Given the description of an element on the screen output the (x, y) to click on. 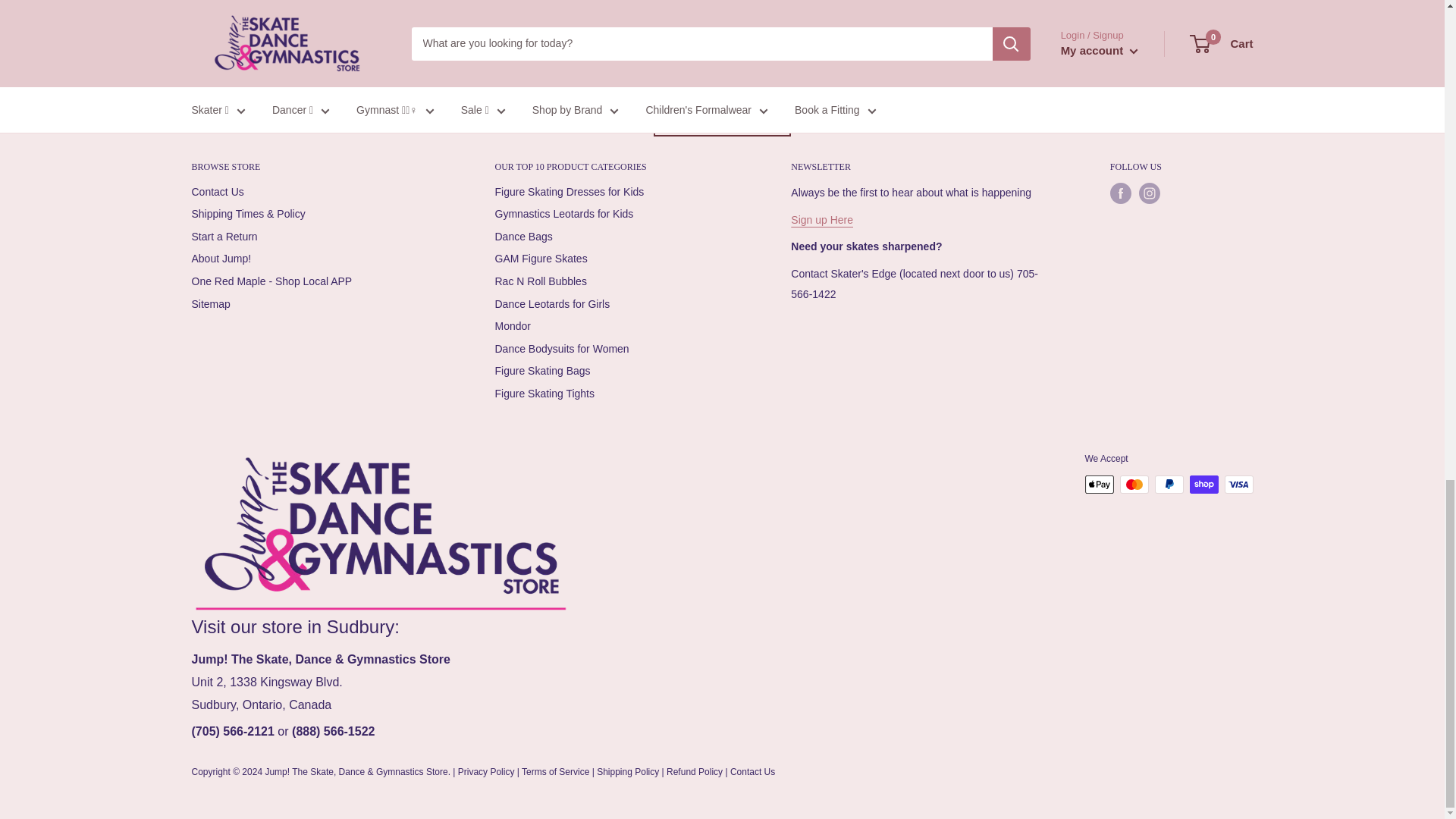
Return Policy (817, 4)
Newsletter (821, 219)
Shipping Policy (263, 21)
